Given the description of an element on the screen output the (x, y) to click on. 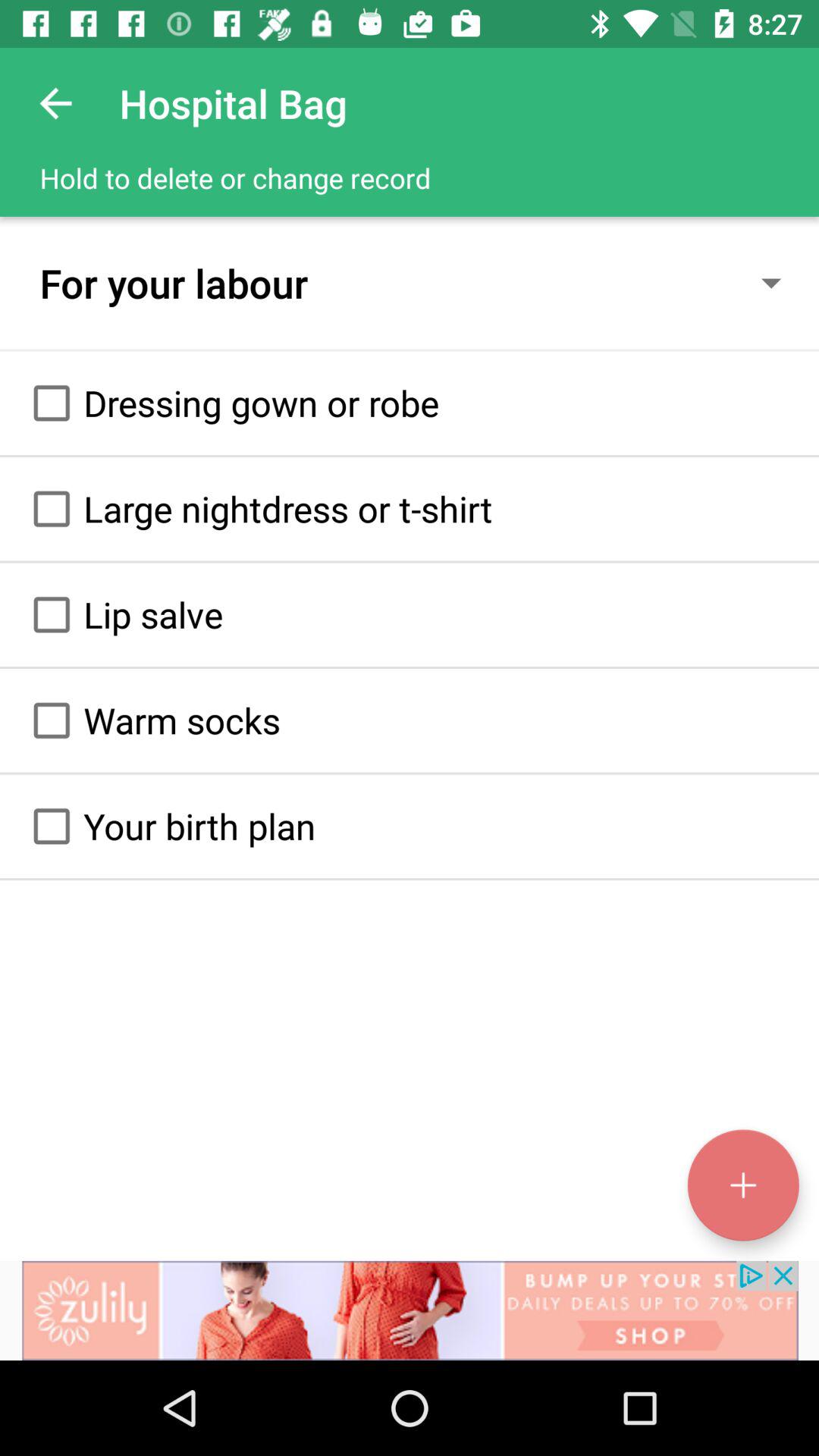
select option (51, 403)
